Given the description of an element on the screen output the (x, y) to click on. 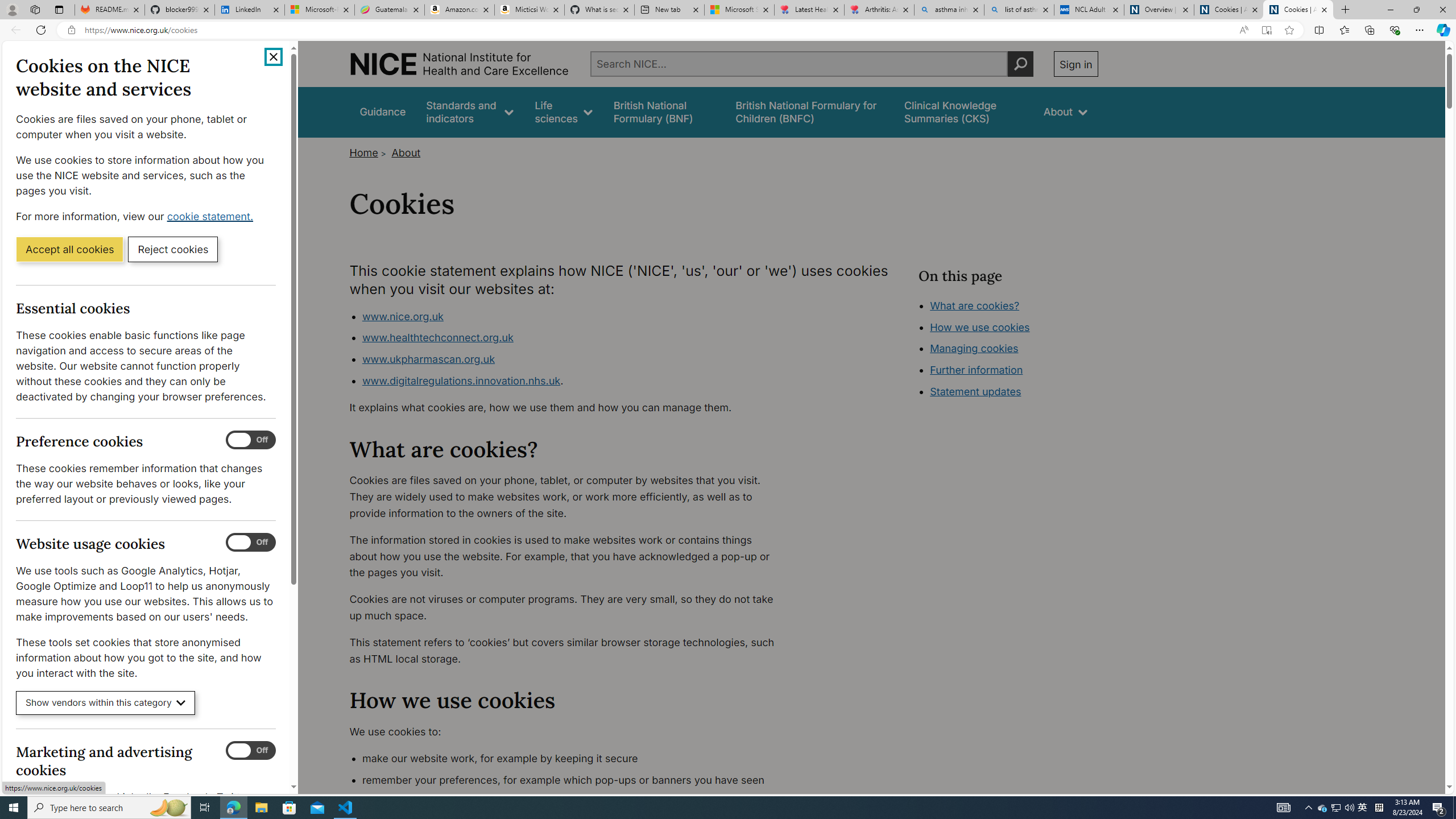
Further information (976, 369)
Cookies | About | NICE (1297, 9)
www.healthtechconnect.org.uk (575, 338)
Statement updates (976, 391)
make our website work, for example by keeping it secure (575, 759)
Website usage cookies (250, 542)
www.ukpharmascan.org.uk (575, 359)
Life sciences (563, 111)
Show vendors within this category (105, 703)
